Given the description of an element on the screen output the (x, y) to click on. 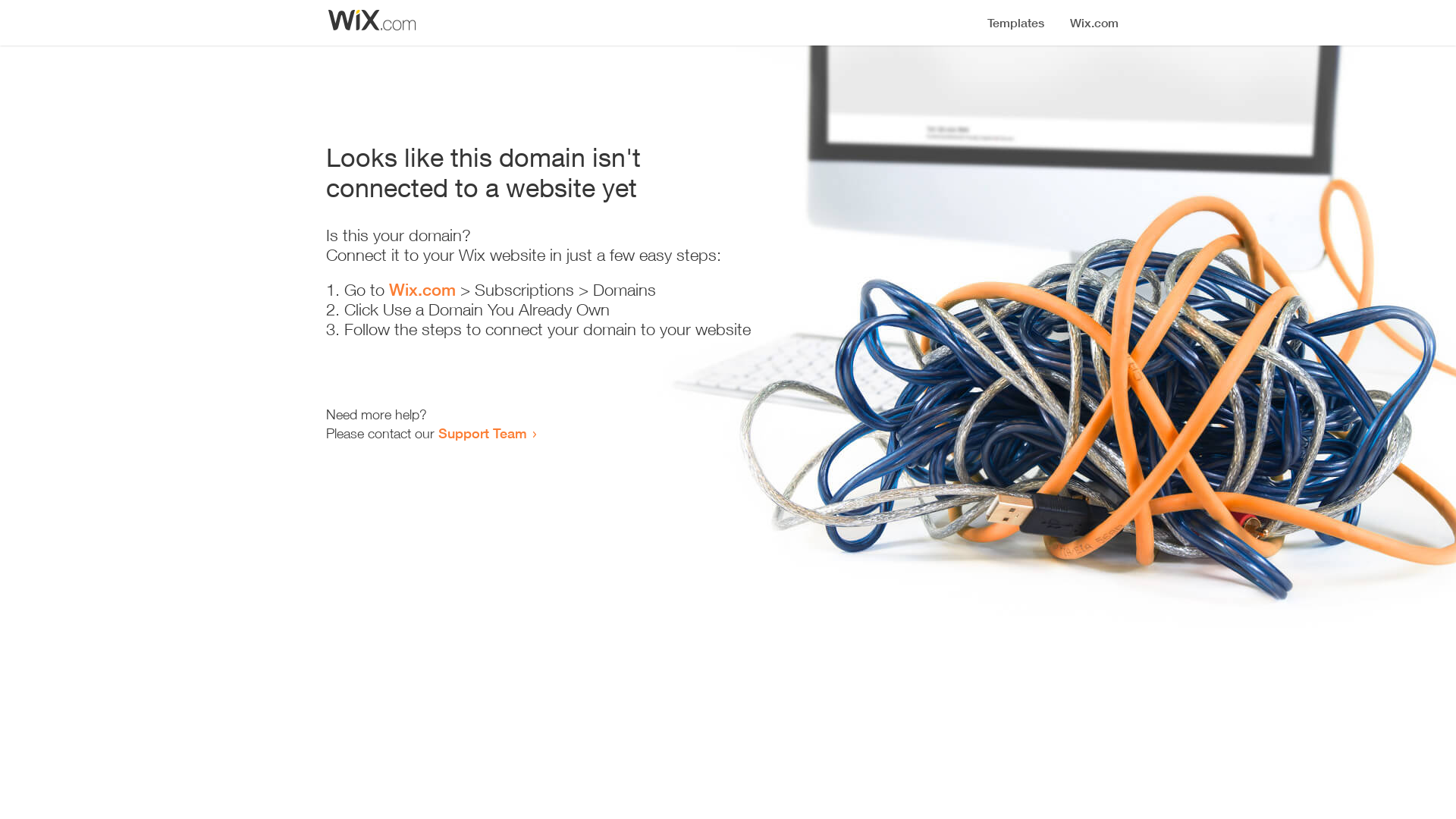
Wix.com Element type: text (422, 289)
Support Team Element type: text (482, 432)
